Given the description of an element on the screen output the (x, y) to click on. 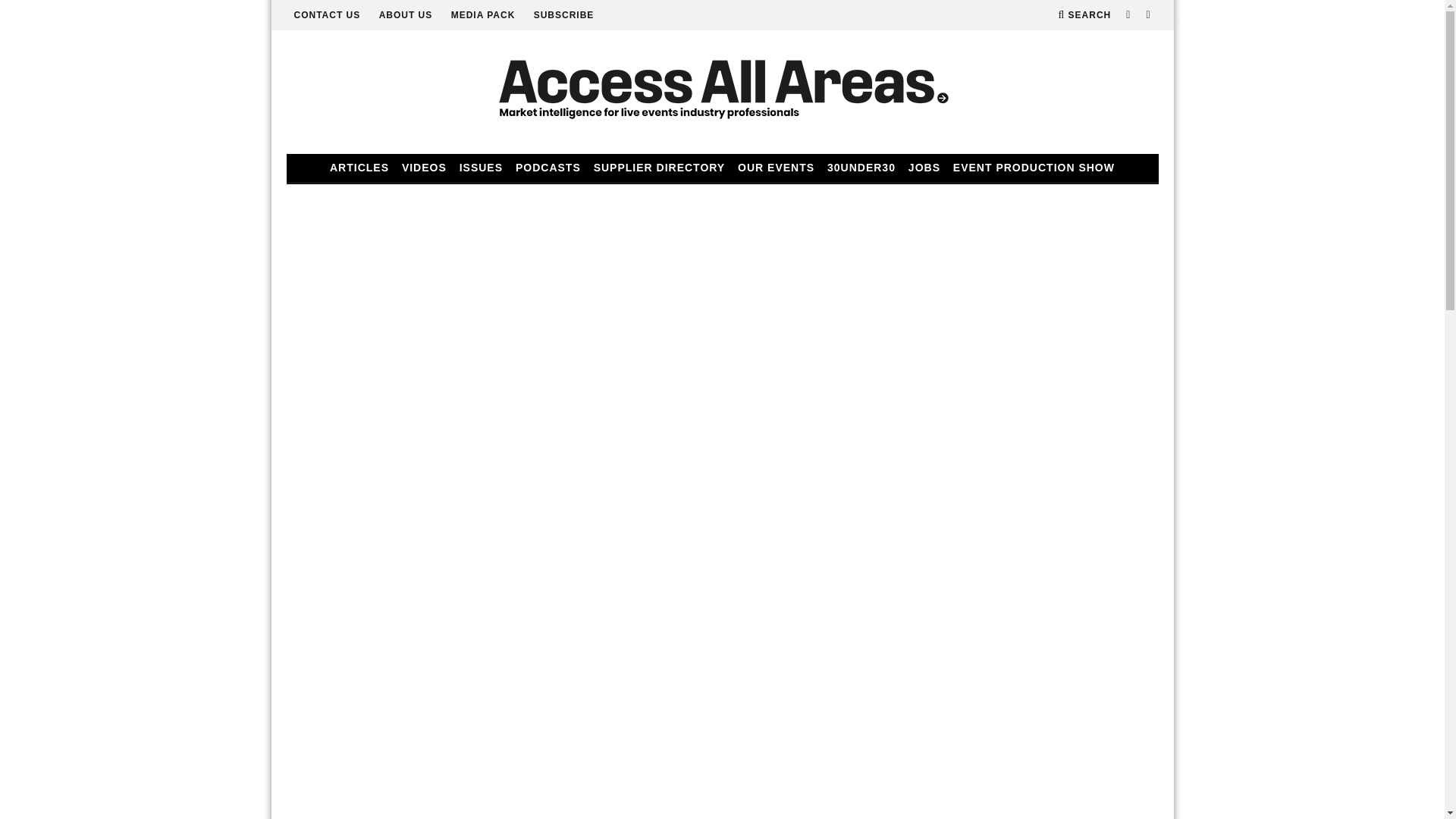
CONTACT US (327, 15)
VIDEOS (424, 167)
Search (1084, 15)
MEDIA PACK (483, 15)
ARTICLES (358, 167)
SUBSCRIBE (564, 15)
Log In (721, 413)
SEARCH (1084, 15)
ABOUT US (405, 15)
